Given the description of an element on the screen output the (x, y) to click on. 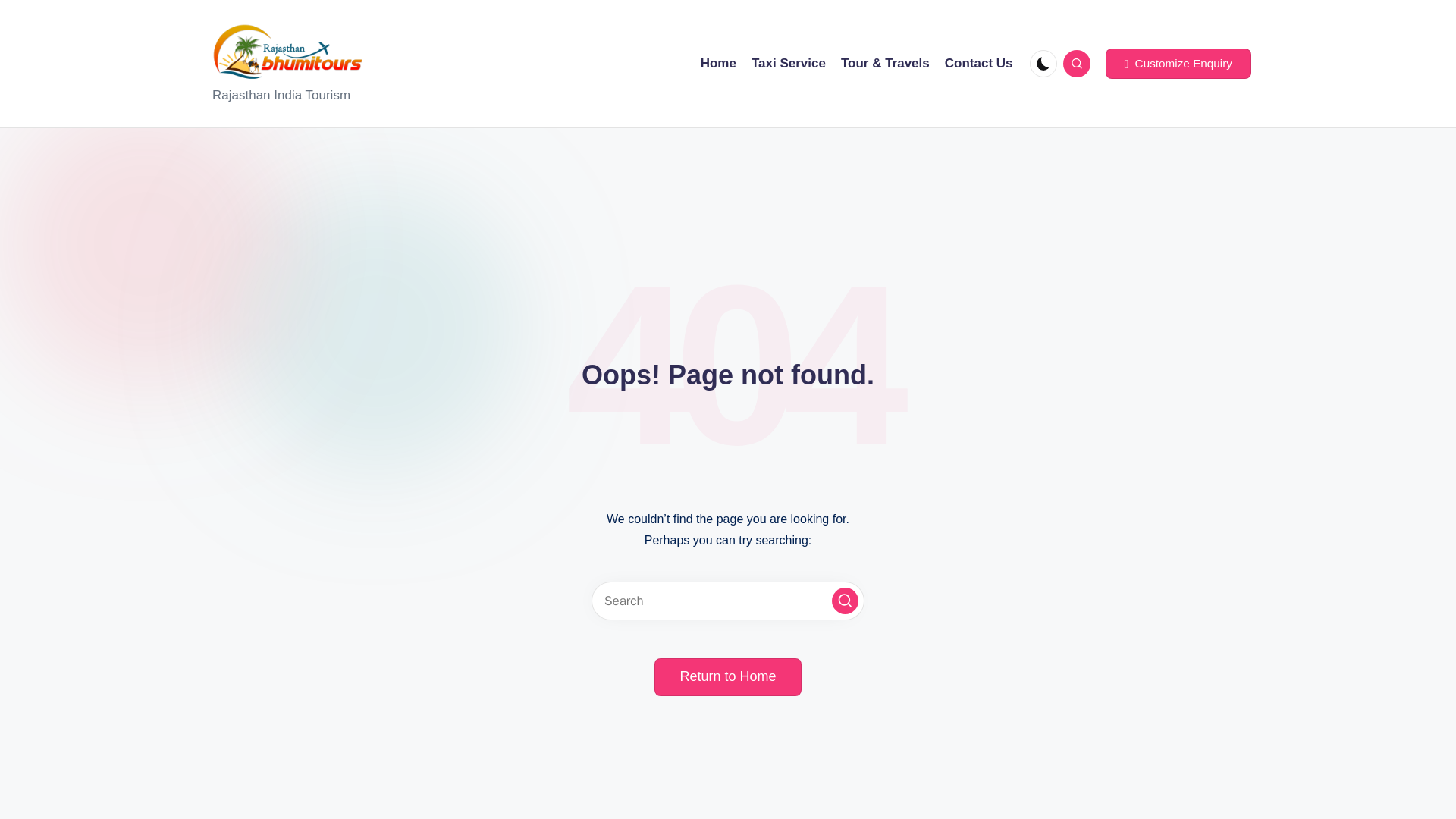
Contact Us (978, 63)
Taxi Service (788, 63)
Home (718, 63)
Customize Enquiry (1178, 63)
Return to Home (726, 677)
